Given the description of an element on the screen output the (x, y) to click on. 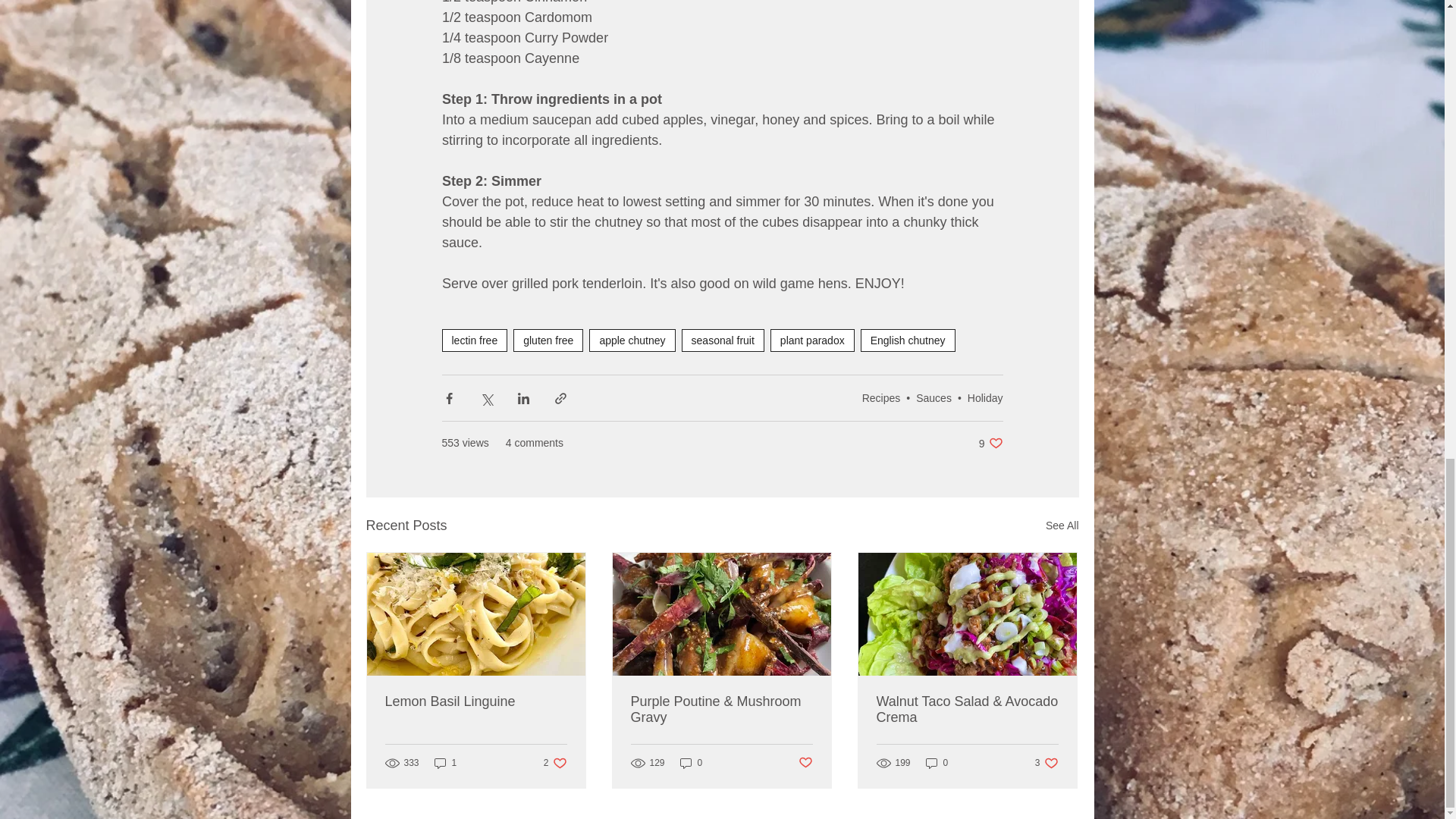
plant paradox (812, 340)
gluten free (548, 340)
seasonal fruit (722, 340)
lectin free (473, 340)
apple chutney (632, 340)
